Given the description of an element on the screen output the (x, y) to click on. 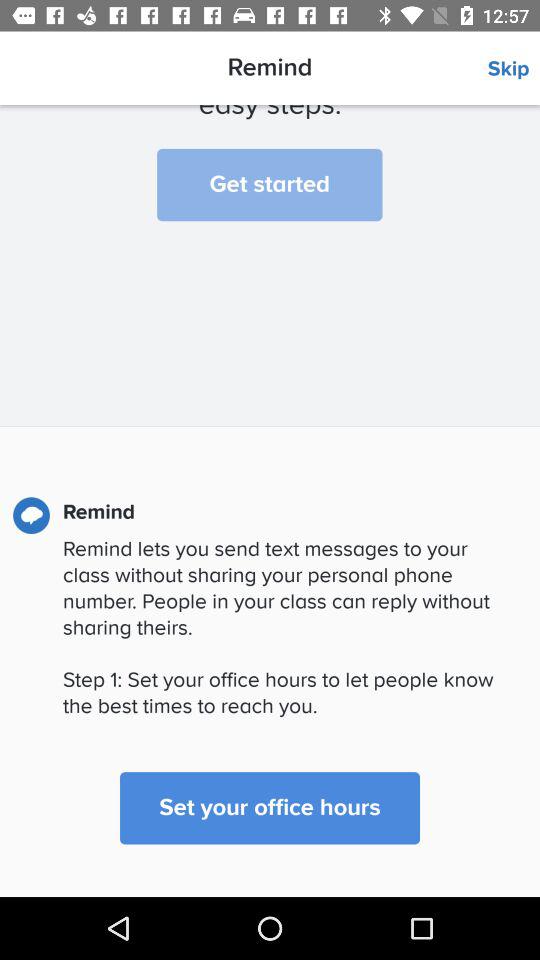
scroll until the get started icon (269, 184)
